Given the description of an element on the screen output the (x, y) to click on. 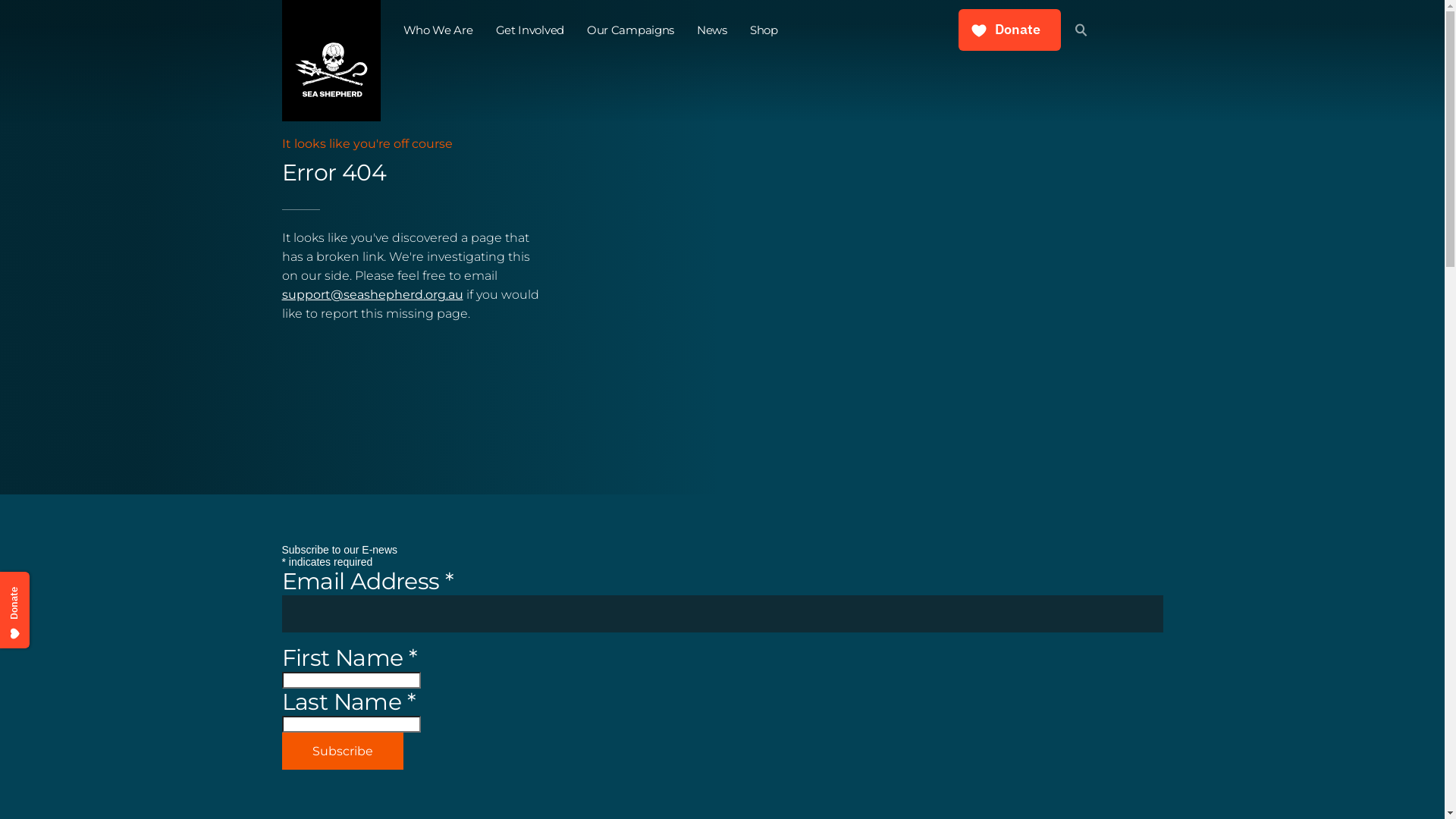
Donate Button Element type: hover (1009, 29)
Our Campaigns Element type: text (630, 30)
Who We Are Element type: text (438, 30)
Get Involved Element type: text (529, 30)
support@seashepherd.org.au Element type: text (372, 294)
News Element type: text (711, 30)
Subscribe Element type: text (342, 750)
Shop Element type: text (763, 30)
Persistent Donate Button Element type: hover (41, 585)
